Given the description of an element on the screen output the (x, y) to click on. 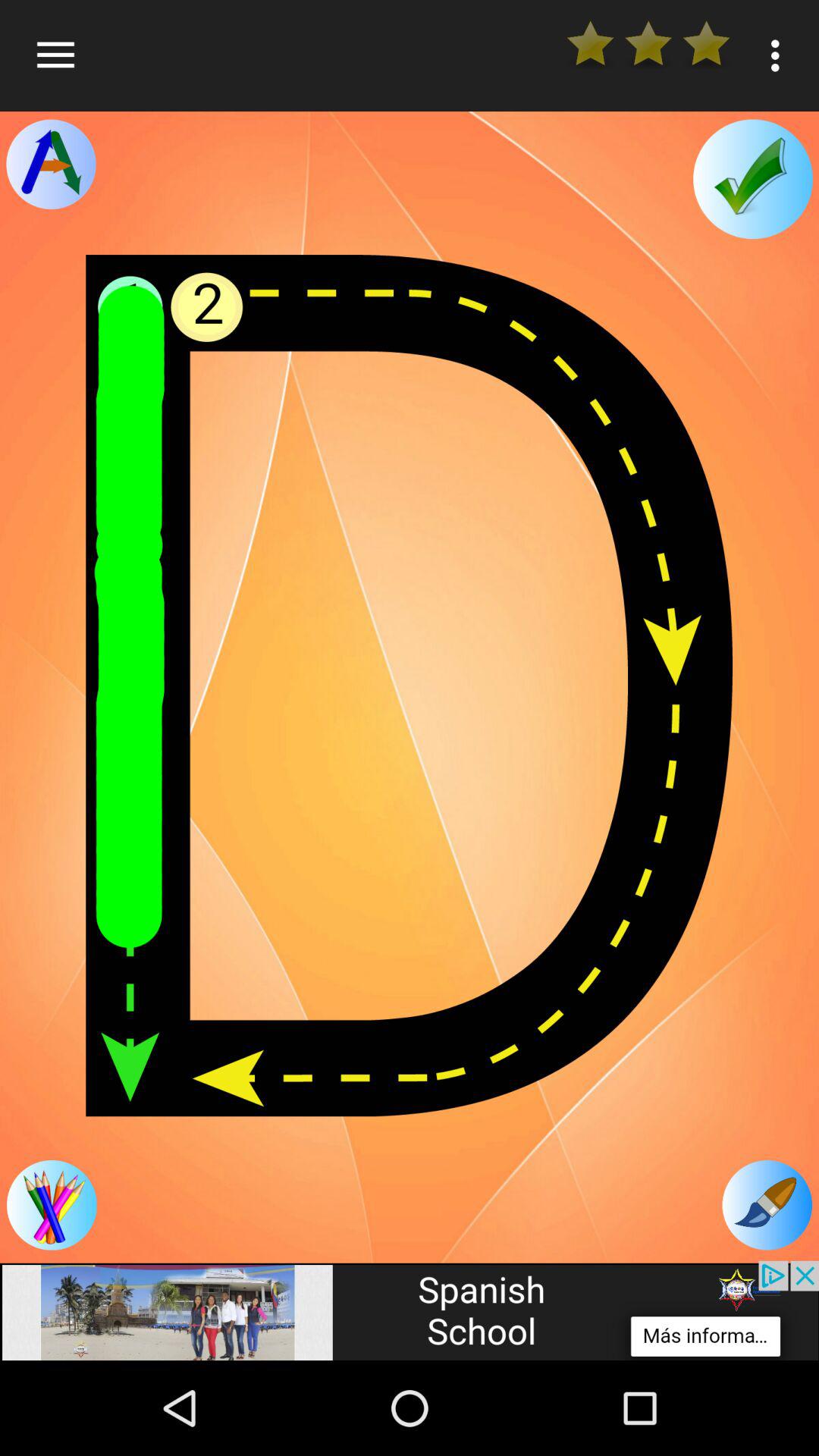
changes color (767, 1205)
